Given the description of an element on the screen output the (x, y) to click on. 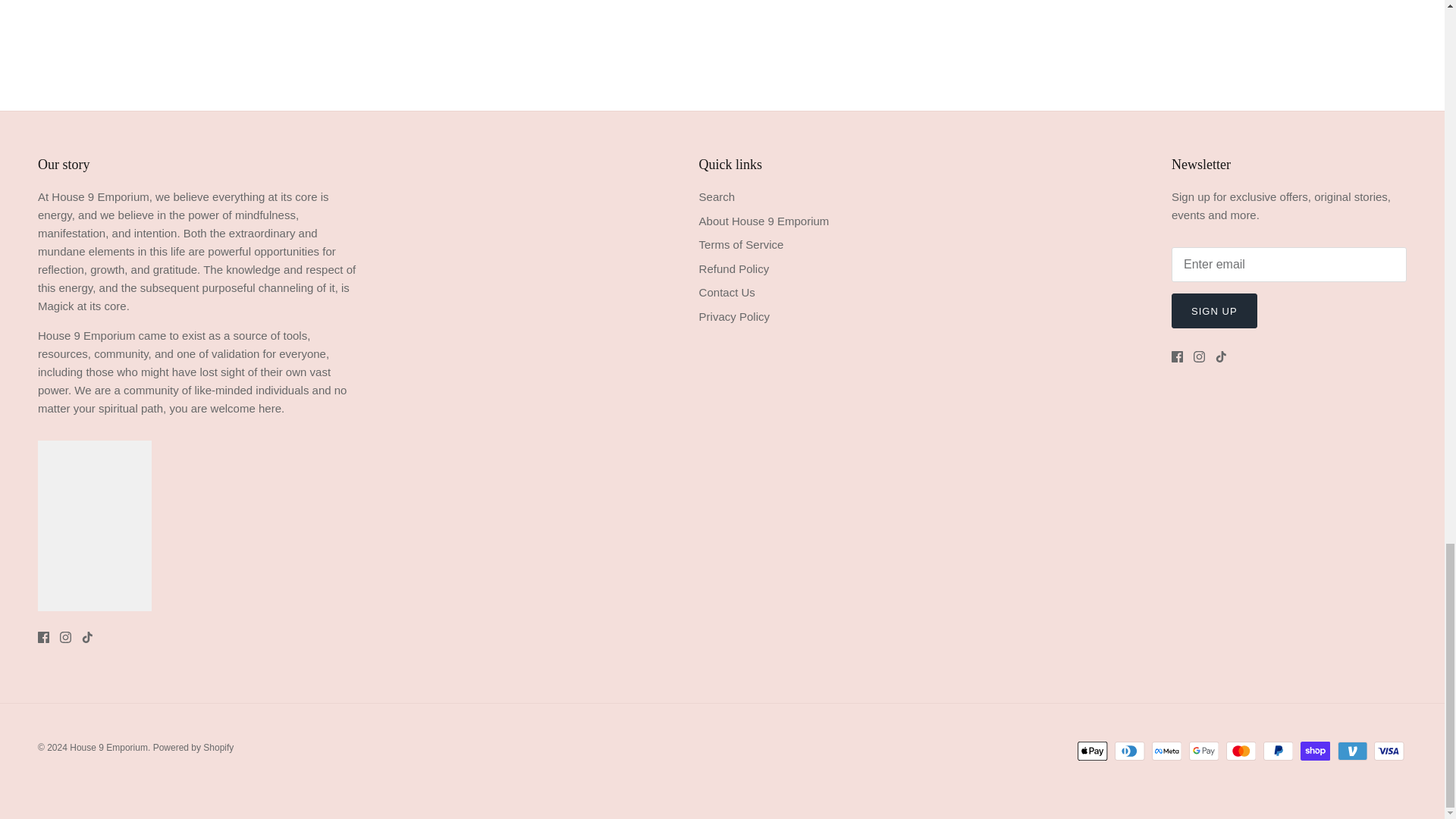
Instagram (1199, 356)
Mastercard (1240, 751)
Apple Pay (1092, 751)
Google Pay (1203, 751)
Meta Pay (1166, 751)
Facebook (43, 636)
PayPal (1277, 751)
Instagram (65, 636)
Diners Club (1129, 751)
Facebook (1177, 356)
